Given the description of an element on the screen output the (x, y) to click on. 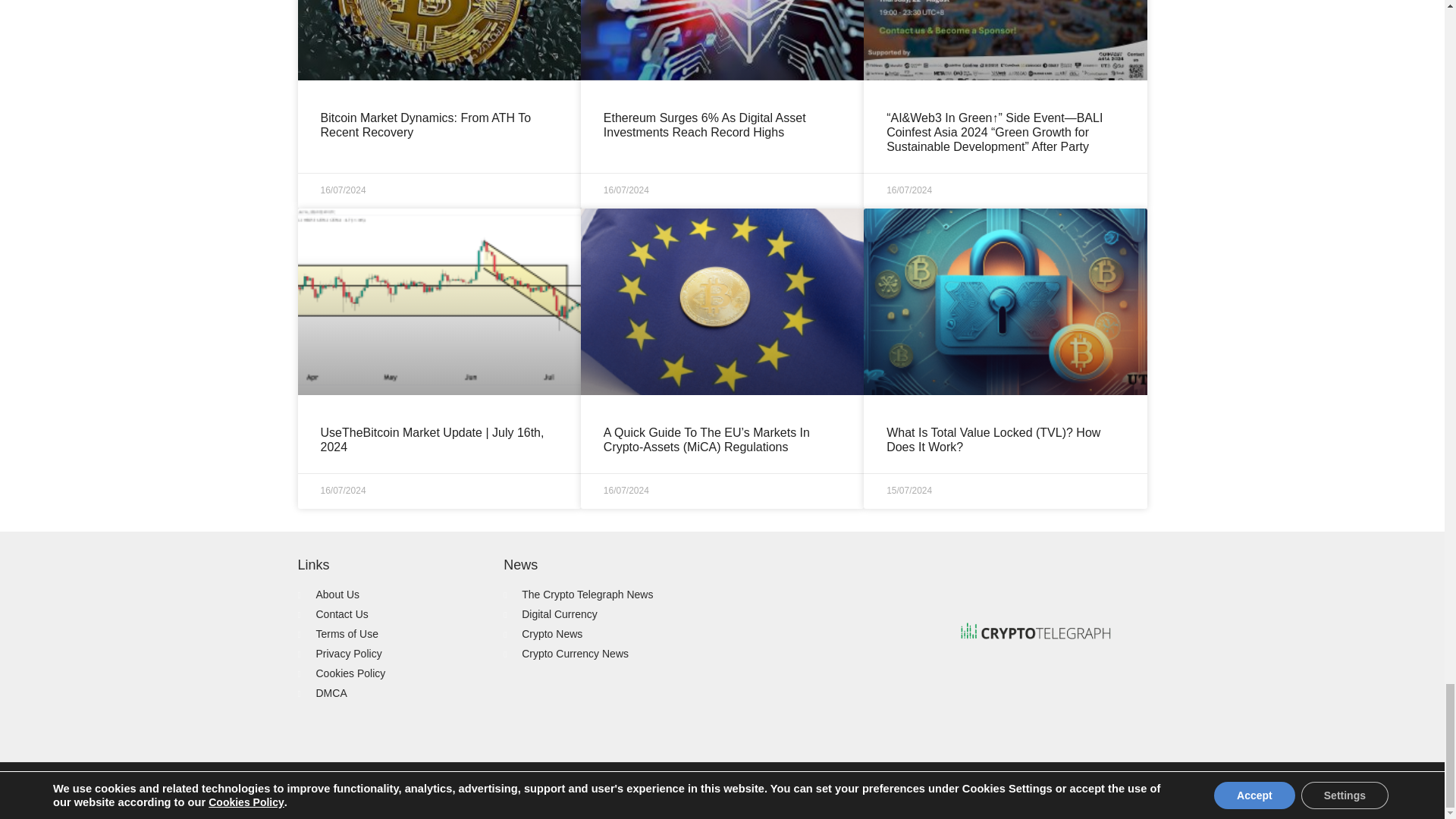
Bitcoin Market Dynamics: From ATH To Recent Recovery (425, 124)
